Given the description of an element on the screen output the (x, y) to click on. 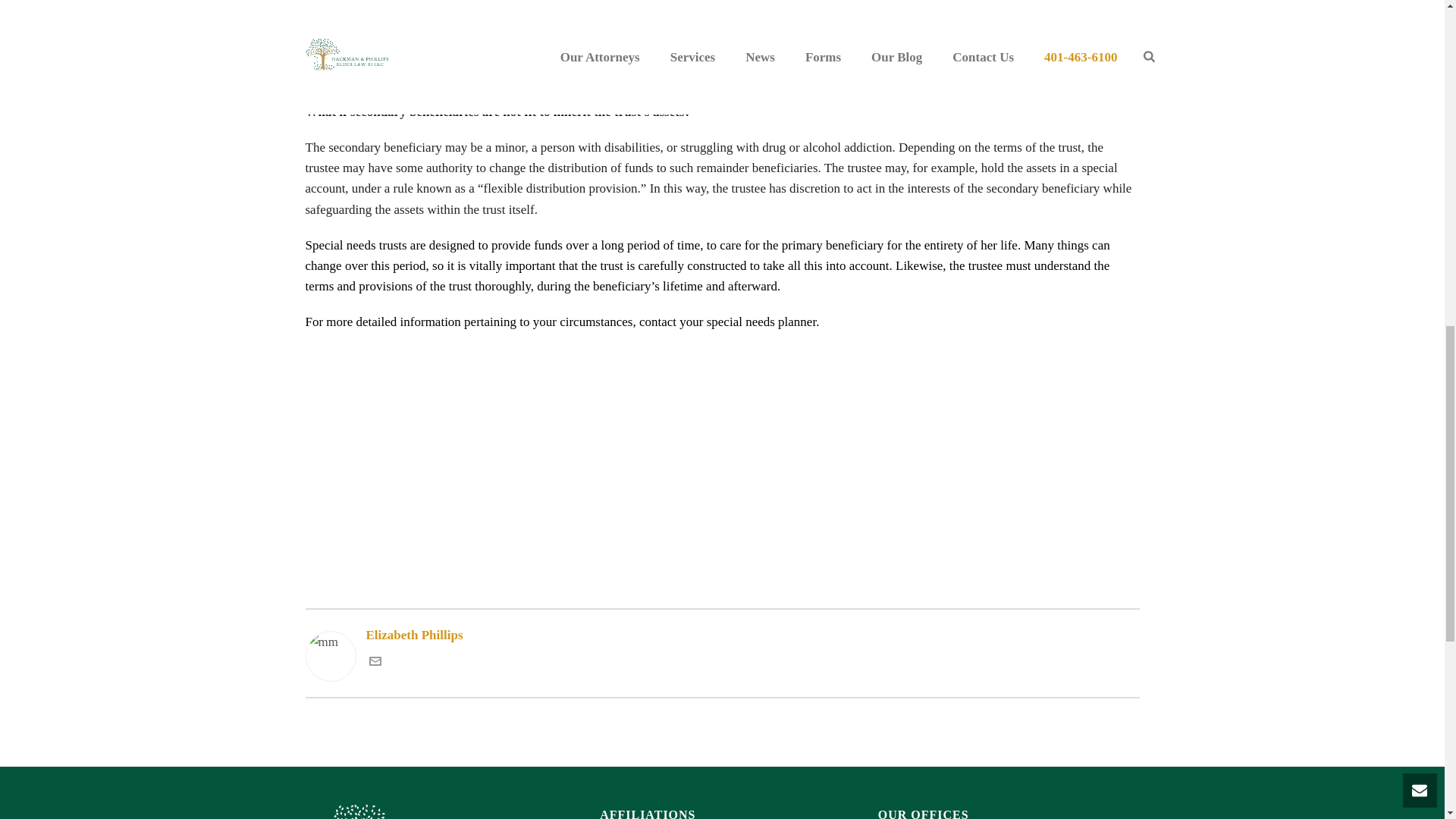
Elizabeth Phillips (721, 634)
